Given the description of an element on the screen output the (x, y) to click on. 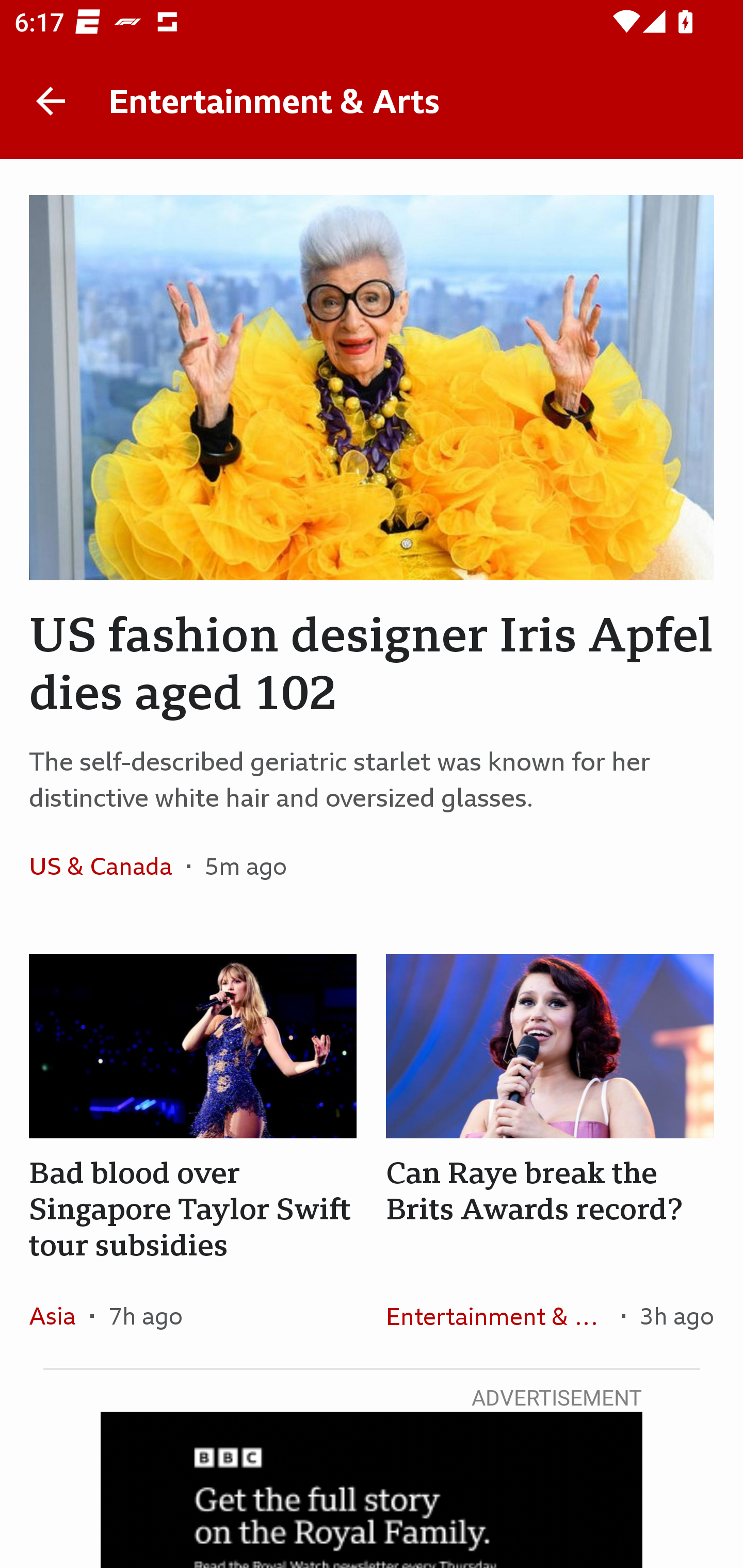
Back (50, 101)
US & Canada In the section US & Canada (107, 865)
Asia In the section Asia (59, 1315)
